Given the description of an element on the screen output the (x, y) to click on. 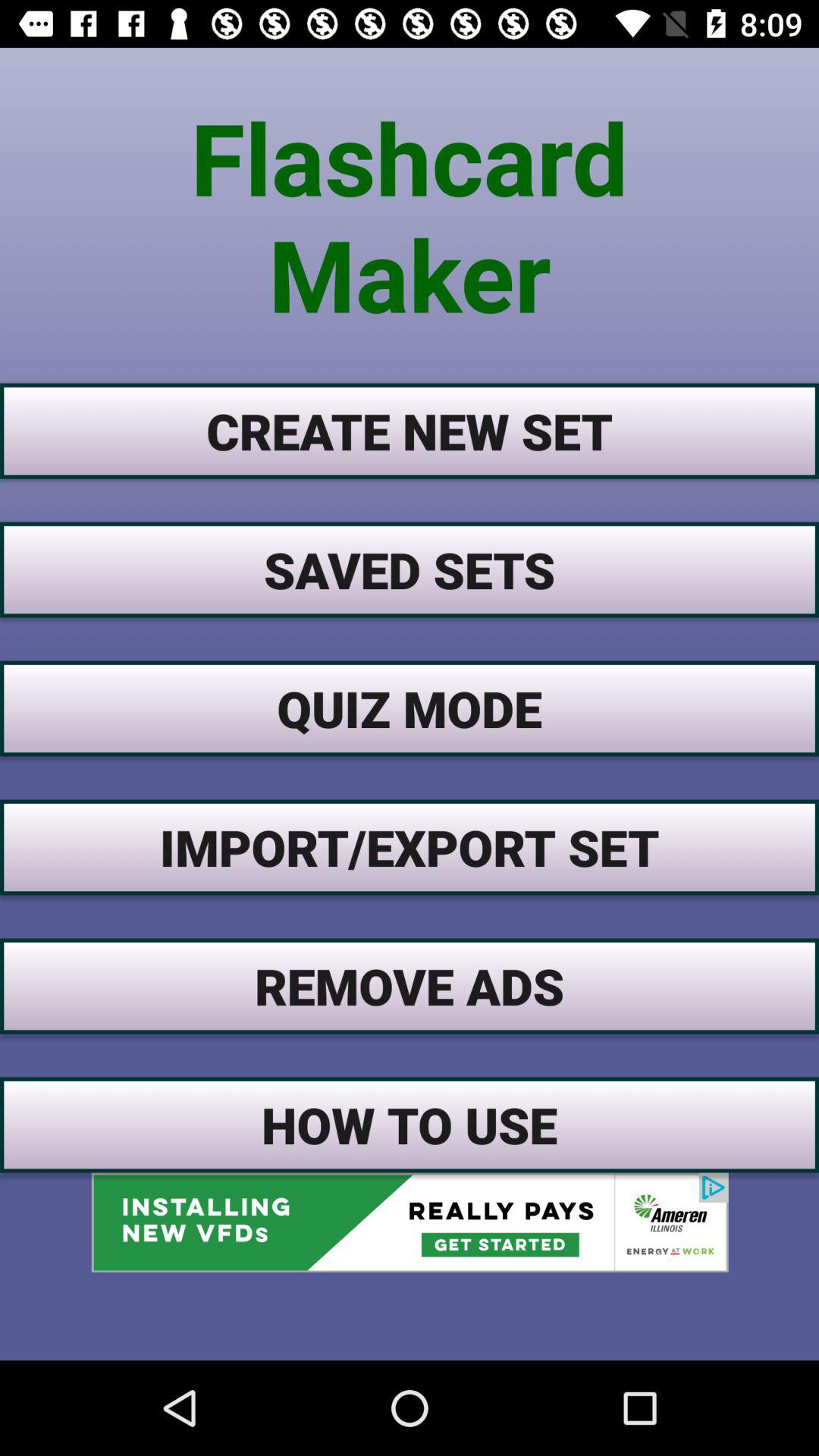
advertisement bar (409, 1222)
